Given the description of an element on the screen output the (x, y) to click on. 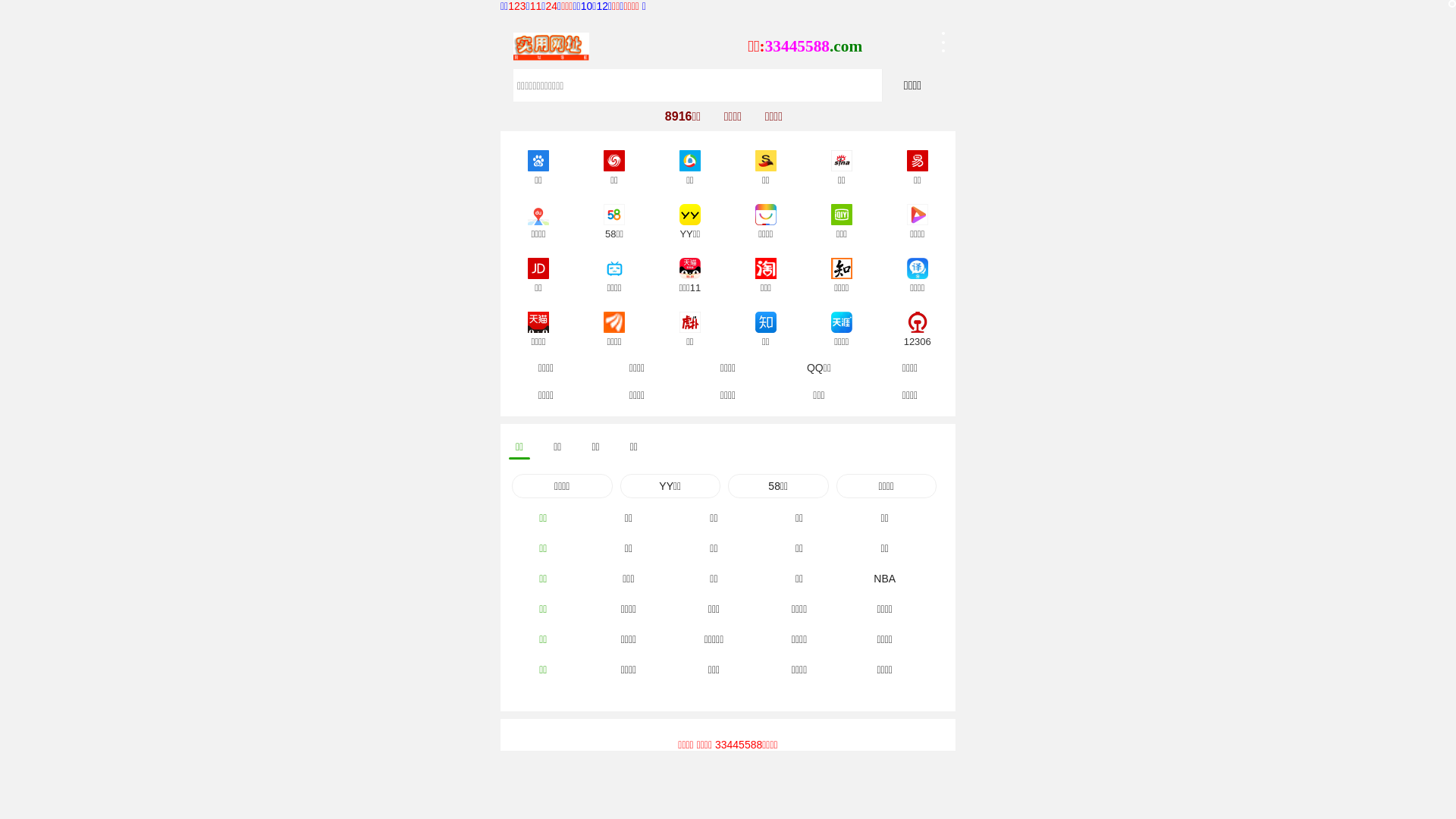
NBA Element type: text (884, 578)
12306 Element type: text (917, 319)
